Given the description of an element on the screen output the (x, y) to click on. 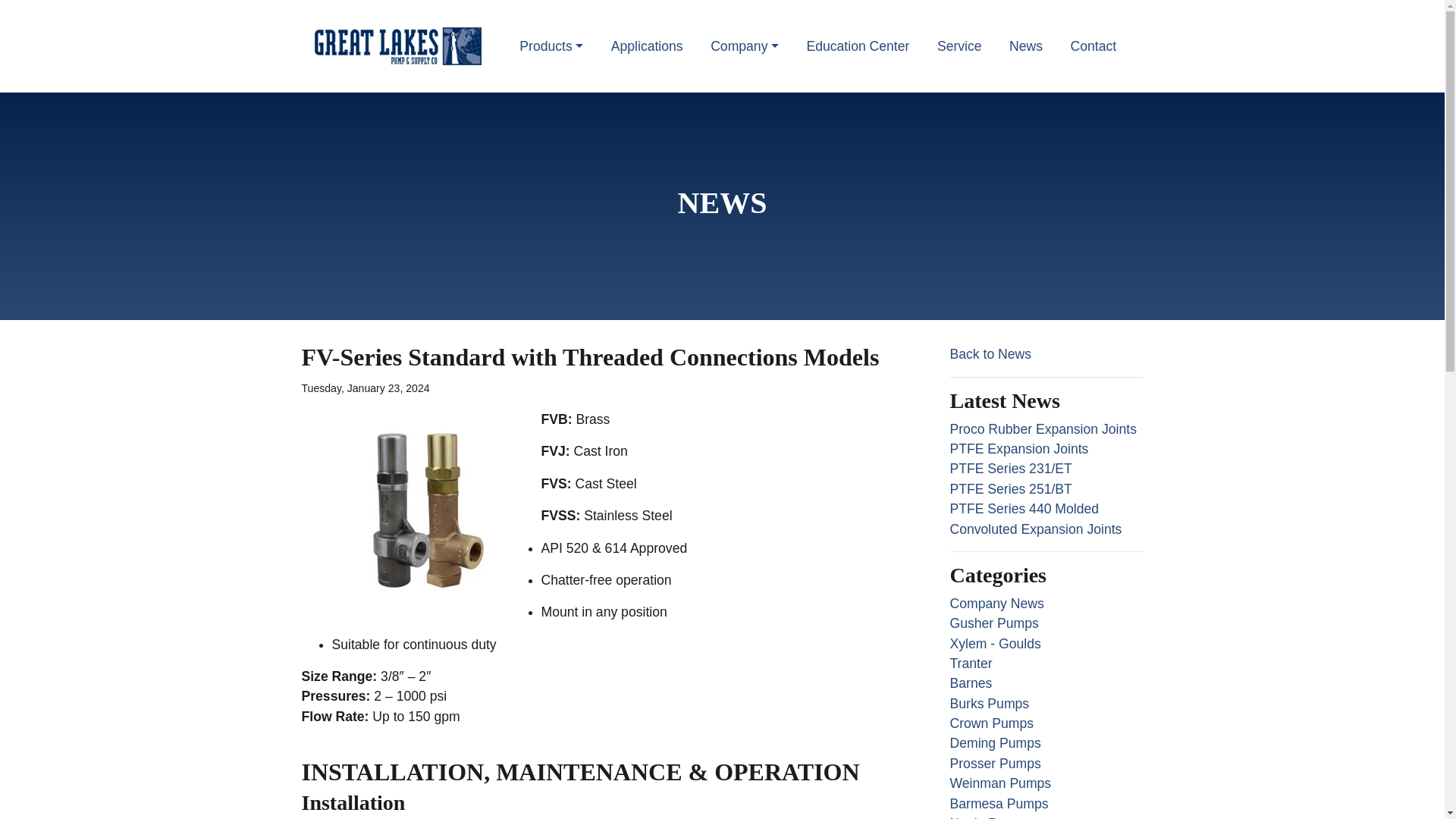
PTFE Expansion Joints (1018, 448)
Burks Pumps (989, 703)
Deming Pumps (995, 743)
Barnes (970, 683)
Barmesa Pumps (998, 803)
Company News (996, 603)
Tranter (970, 663)
Applications (646, 45)
Crown Pumps (991, 723)
Company (744, 45)
Service (959, 45)
Weinman Pumps (1000, 783)
PTFE Series 440 Molded Convoluted Expansion Joints (1035, 518)
Xylem - Goulds (995, 642)
Gusher Pumps (993, 622)
